Given the description of an element on the screen output the (x, y) to click on. 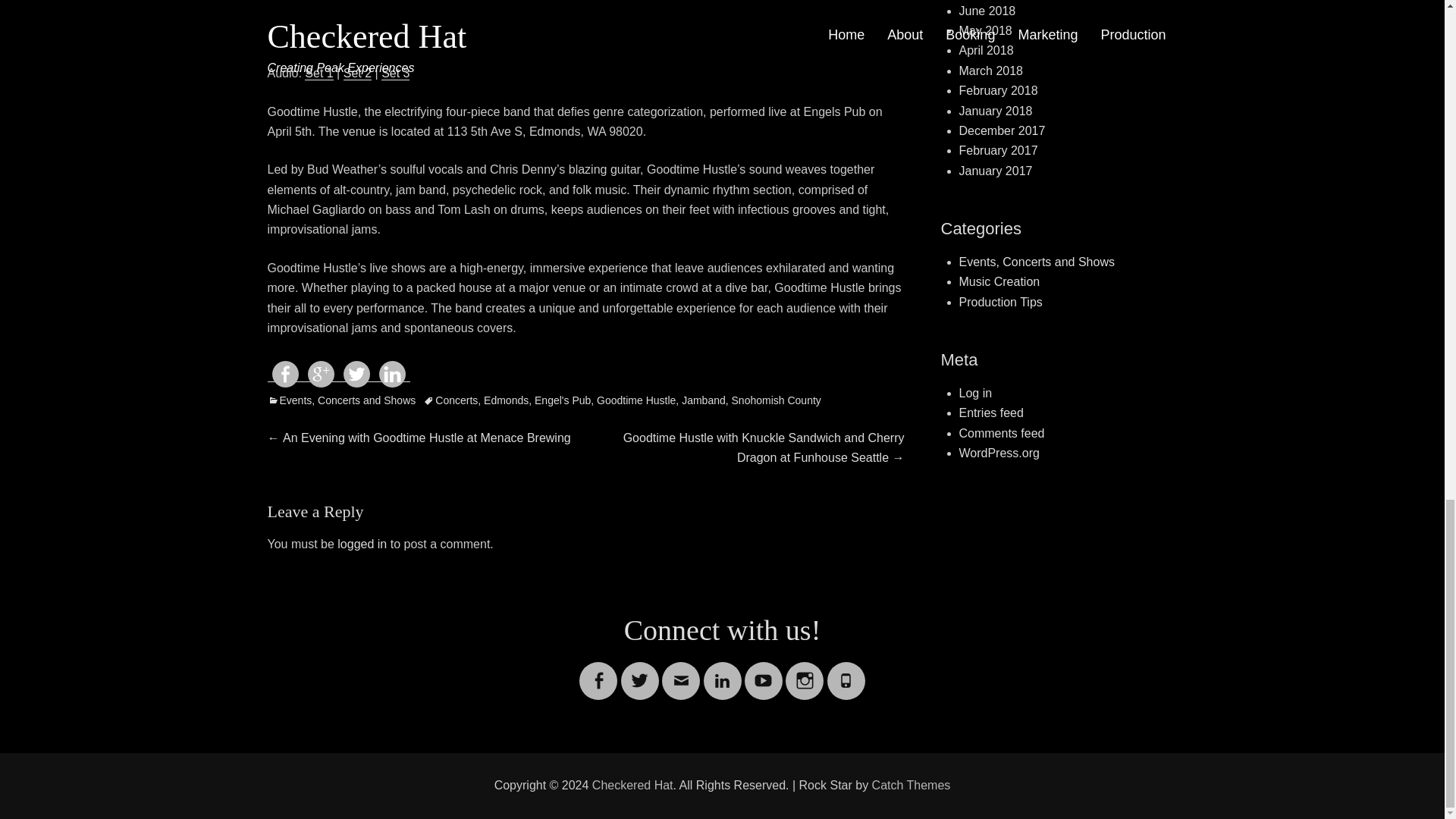
Snohomish County (776, 399)
YouTube (763, 671)
Set 3 (395, 72)
Twitter (640, 671)
Facebook (598, 671)
Edmonds (505, 399)
Goodtime Hustle (635, 399)
Email (681, 671)
Events, Concerts and Shows (340, 399)
Instagram (805, 671)
